Given the description of an element on the screen output the (x, y) to click on. 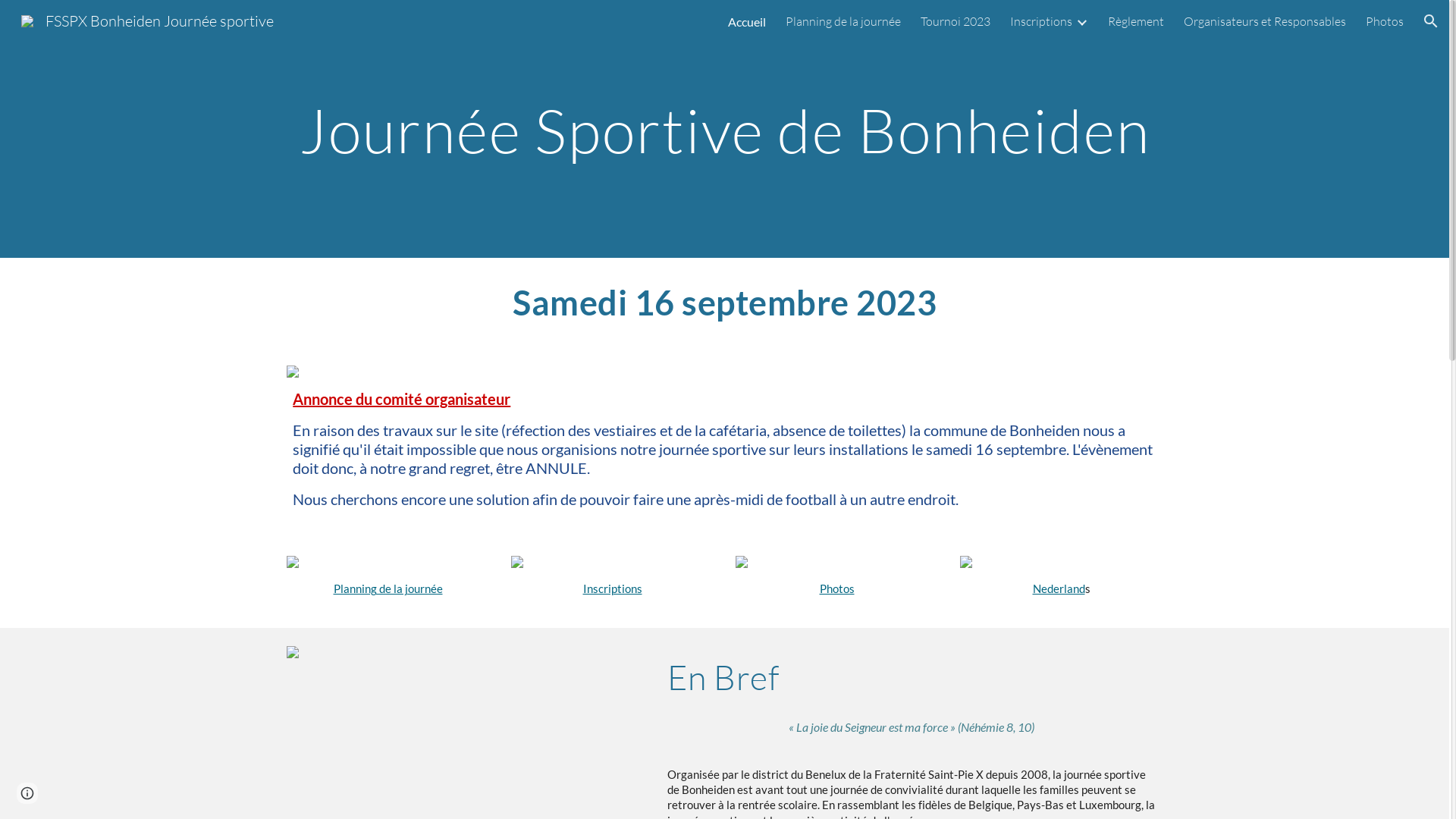
Organisateurs et Responsables Element type: text (1264, 20)
Photos Element type: text (1384, 20)
Tournoi 2023 Element type: text (955, 20)
Nederland Element type: text (1058, 588)
Expand/Collapse Element type: hover (1081, 20)
Inscriptions Element type: text (611, 588)
Inscriptions Element type: text (1041, 20)
Accueil Element type: text (746, 20)
Photos Element type: text (836, 588)
